Given the description of an element on the screen output the (x, y) to click on. 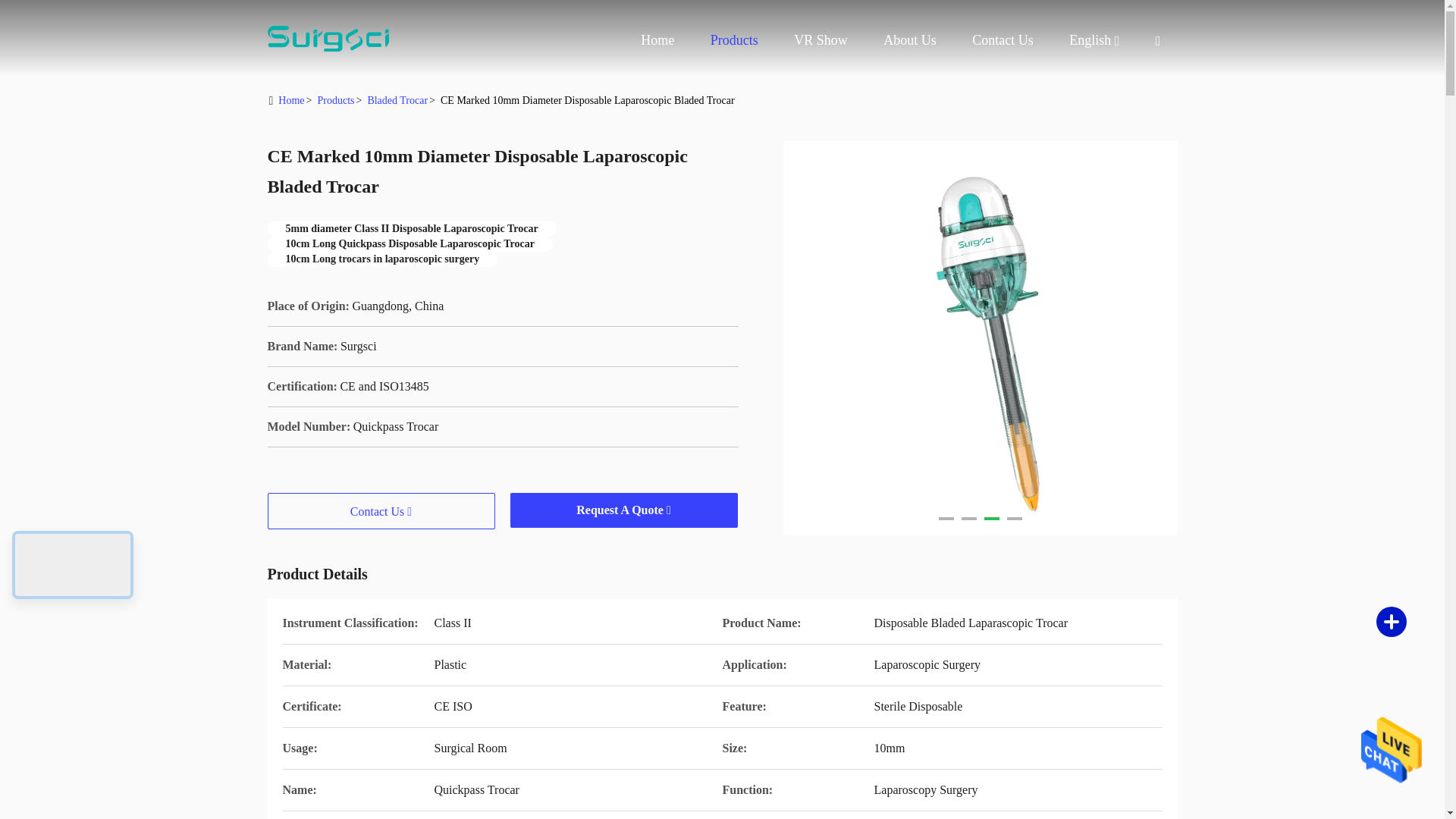
Products (734, 40)
Products (734, 40)
Contact Us (1002, 40)
About Us (909, 40)
Home (327, 37)
VR Show (820, 40)
